Given the description of an element on the screen output the (x, y) to click on. 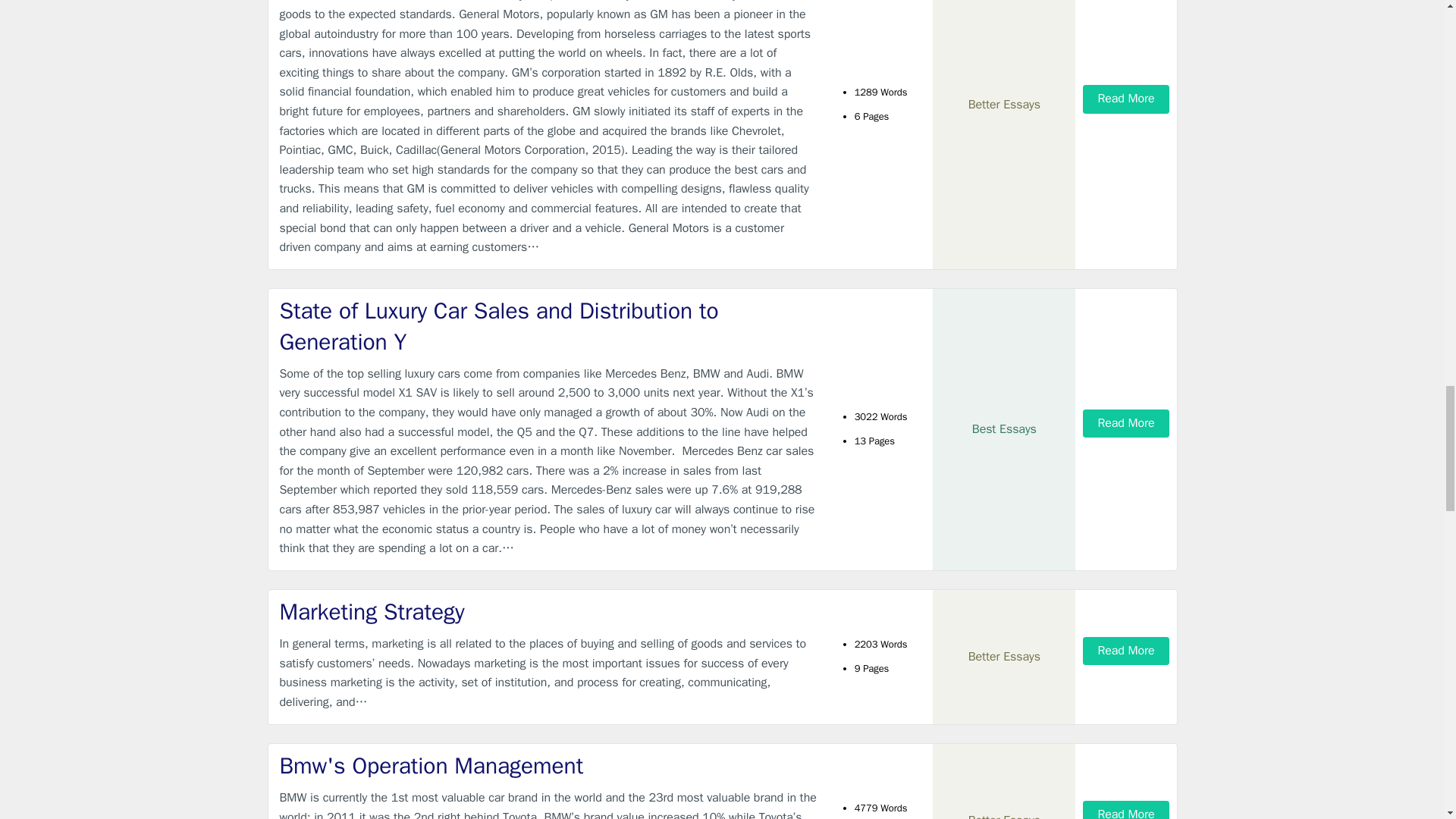
Bmw's Operation Management (548, 766)
Read More (1126, 423)
Read More (1126, 99)
State of Luxury Car Sales and Distribution to Generation Y (548, 326)
Marketing Strategy (548, 612)
Read More (1126, 651)
Read More (1126, 809)
